Given the description of an element on the screen output the (x, y) to click on. 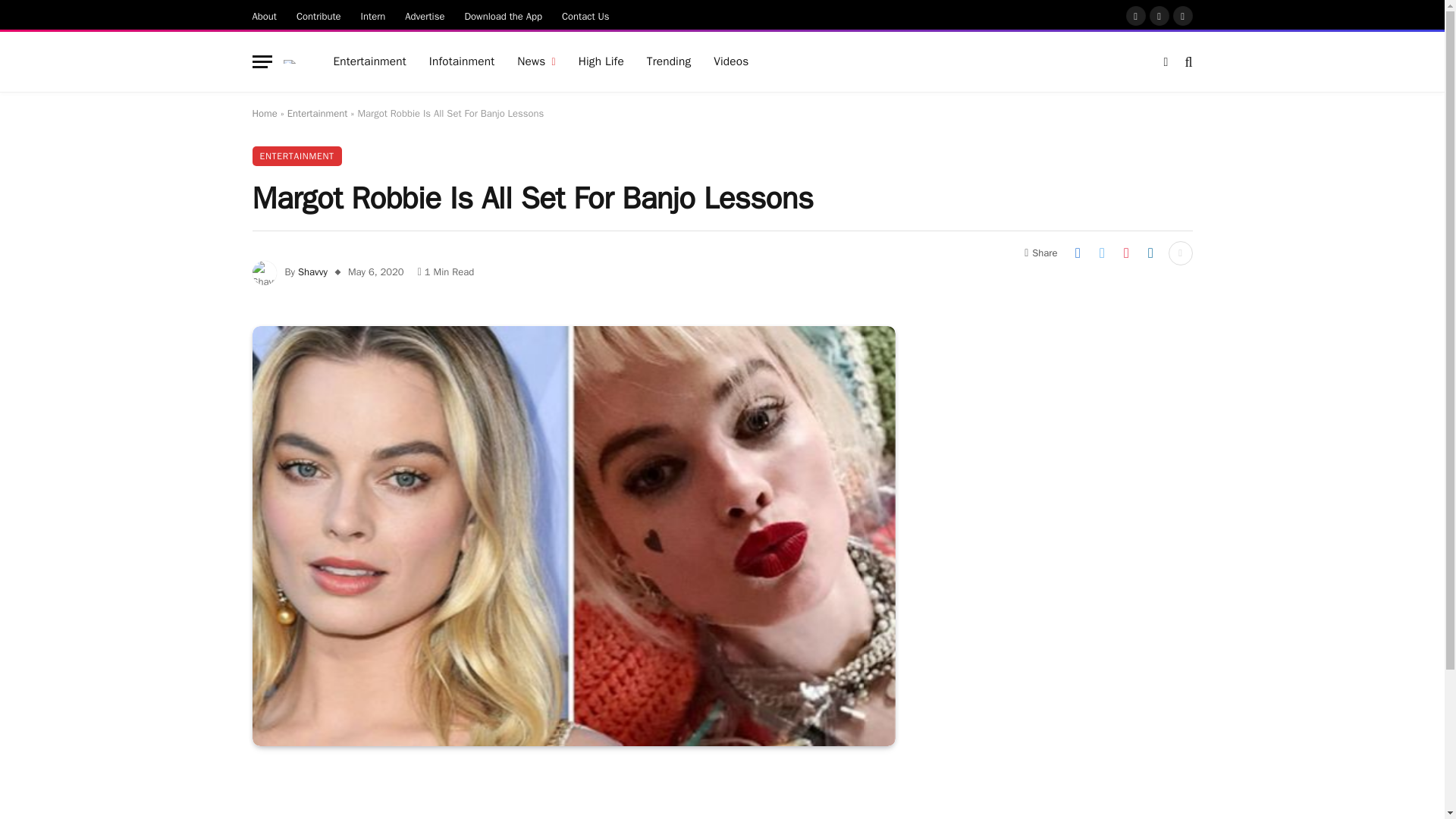
About (264, 15)
Contact Us (585, 15)
Contribute (318, 15)
Switch to Dark Design - easier on eyes. (1165, 61)
Intern (373, 15)
Download the App (503, 15)
Advertise (424, 15)
